Given the description of an element on the screen output the (x, y) to click on. 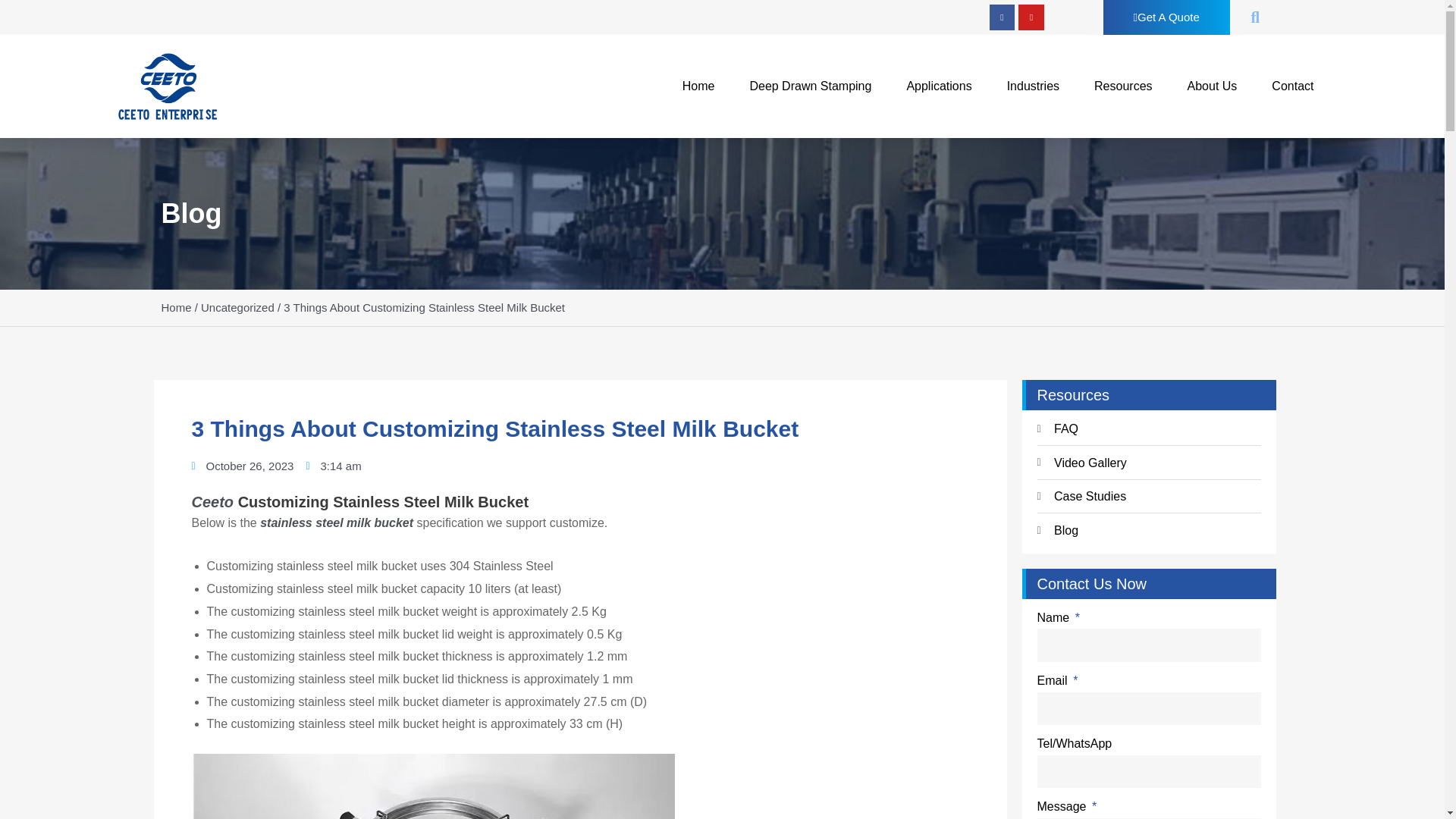
Home (698, 86)
Deep Drawn Stamping (809, 86)
About Us (1212, 86)
Industries (1032, 86)
Contact (1291, 86)
Applications (939, 86)
Get A Quote (1166, 17)
Resources (1122, 86)
